Given the description of an element on the screen output the (x, y) to click on. 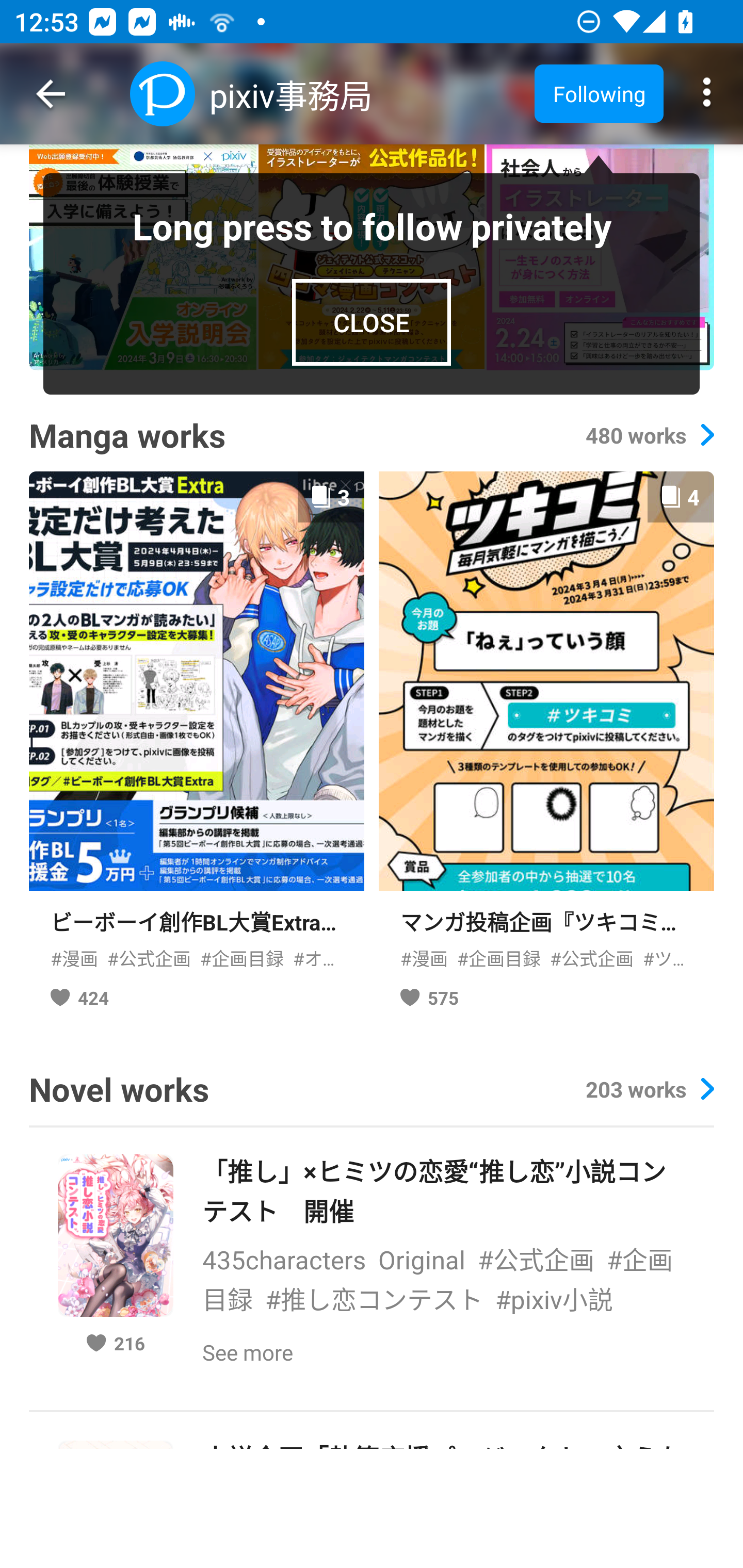
Navigate up (50, 93)
More options (706, 93)
Following (598, 93)
CLOSE (371, 322)
480 works (649, 435)
203 works (649, 1088)
